Given the description of an element on the screen output the (x, y) to click on. 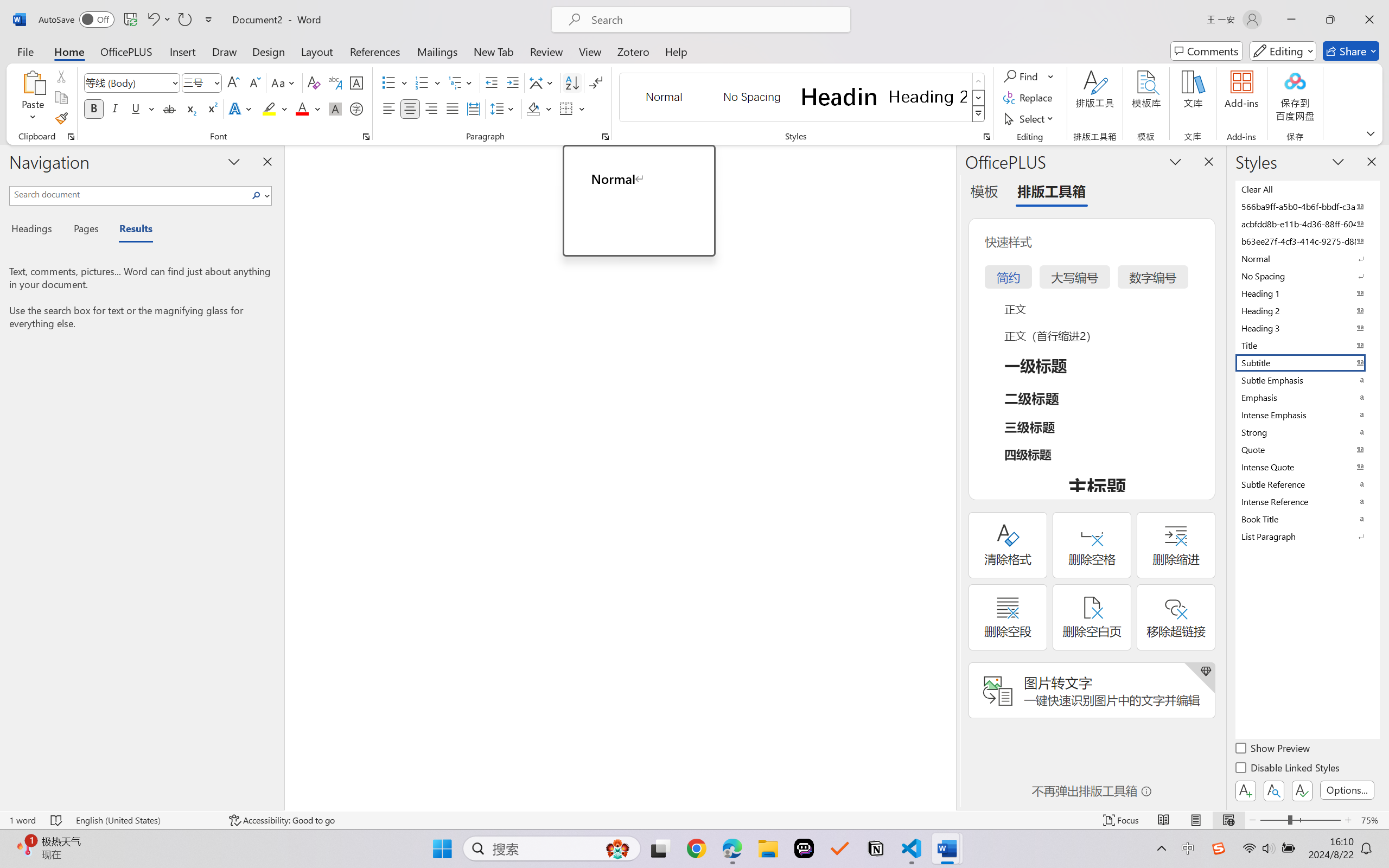
Results (130, 229)
Comments (1206, 50)
Phonetic Guide... (334, 82)
Italic (115, 108)
Insert (182, 51)
No Spacing (1306, 275)
Line and Paragraph Spacing (503, 108)
Subtle Reference (1306, 484)
